Given the description of an element on the screen output the (x, y) to click on. 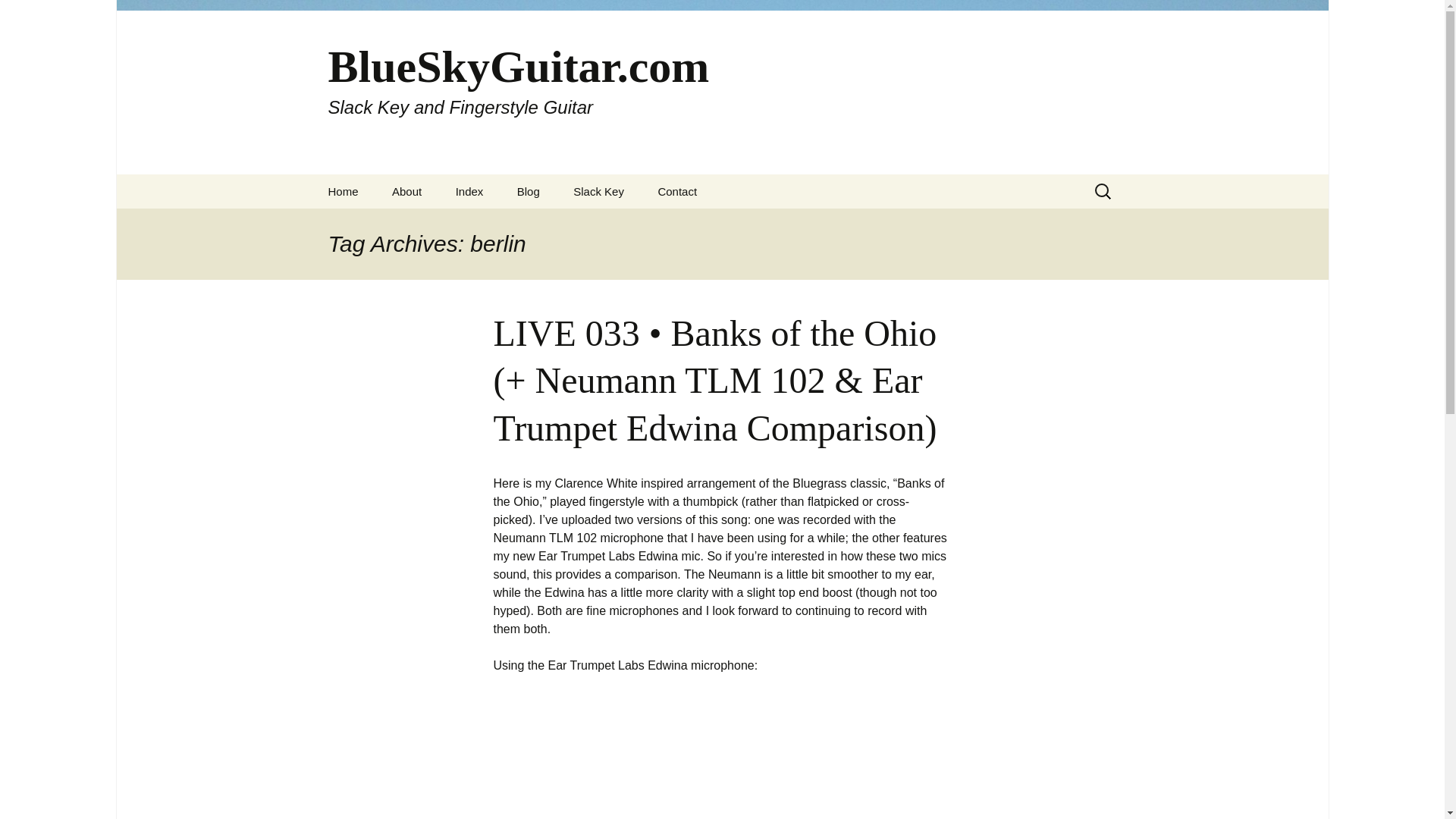
About (406, 191)
Index (470, 191)
Blog (528, 191)
Search (34, 15)
Home (342, 191)
Contact (676, 191)
Slack Key (598, 191)
